Given the description of an element on the screen output the (x, y) to click on. 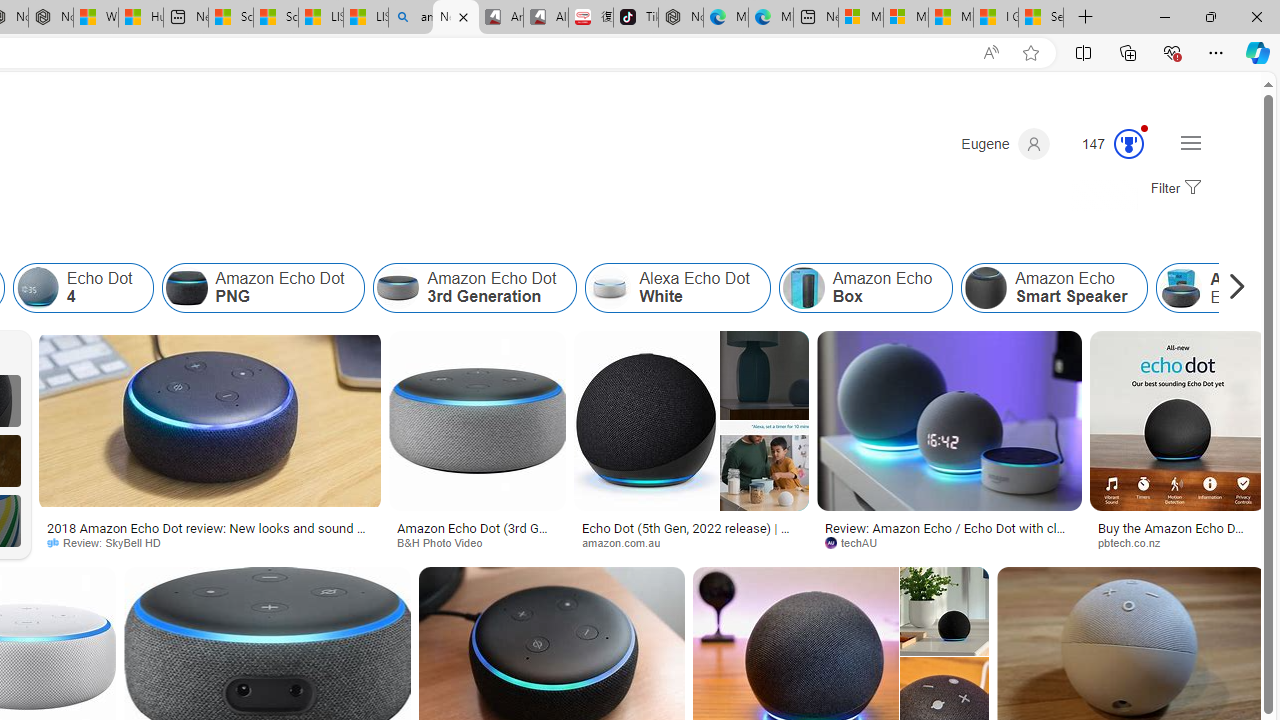
Class: item col (1055, 287)
Amazon Echo Dot PNG (263, 287)
Echo Dot 4 (36, 287)
Amazon Echo Smart Speaker (1055, 287)
Filter (1173, 189)
